Given the description of an element on the screen output the (x, y) to click on. 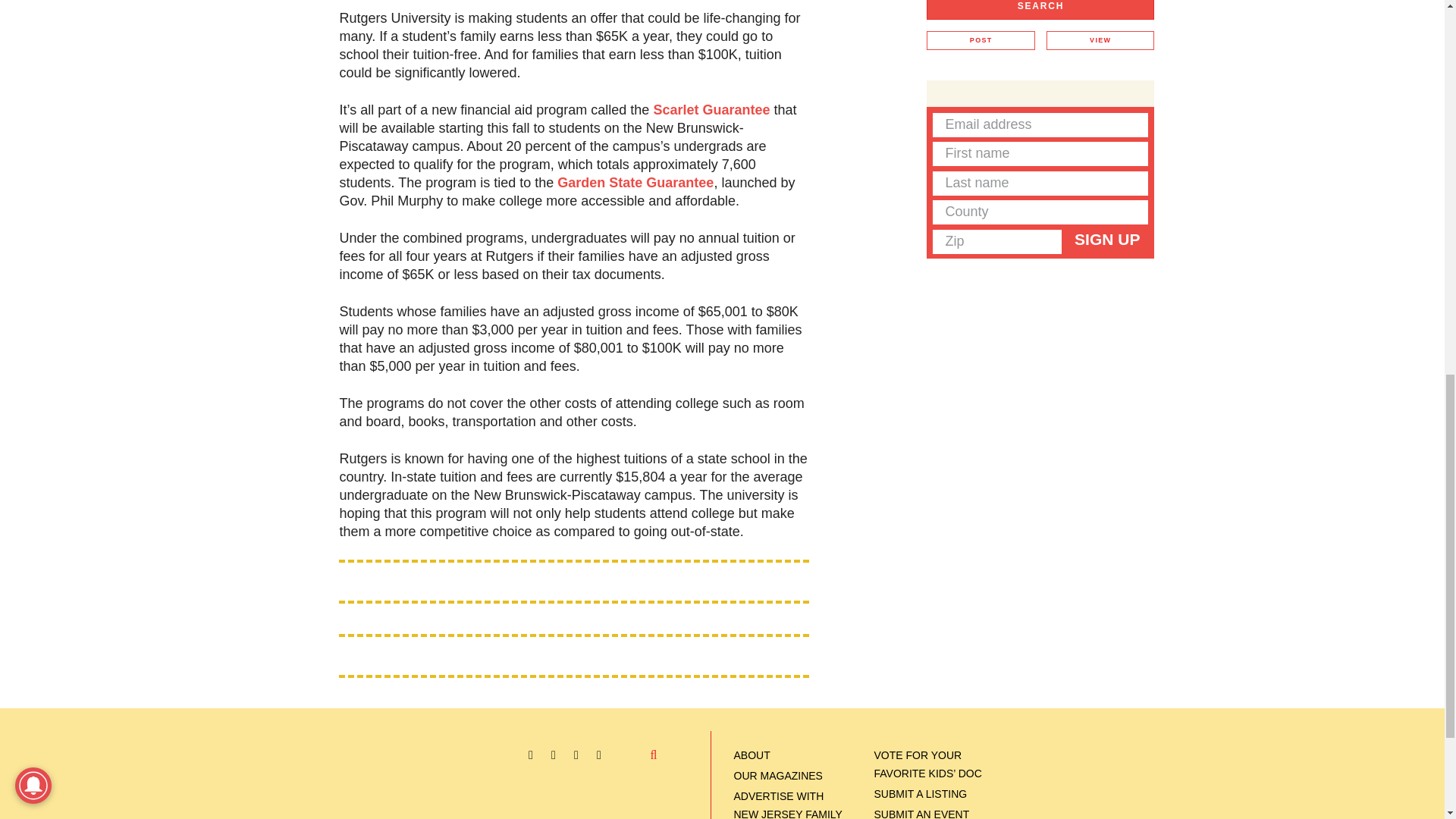
Search (1040, 9)
Search (1040, 9)
sign up (1106, 239)
